Given the description of an element on the screen output the (x, y) to click on. 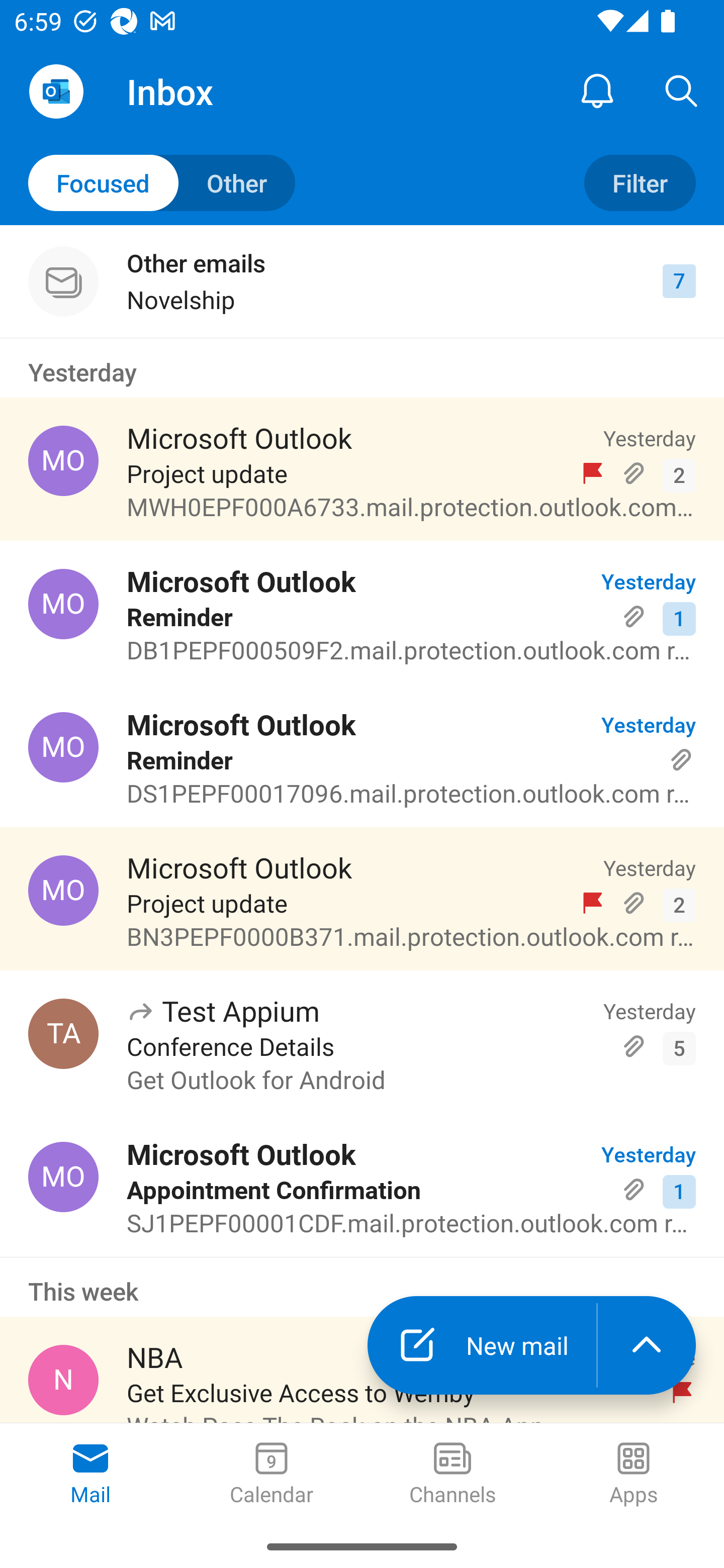
Notification Center (597, 90)
Search, ,  (681, 90)
Open Navigation Drawer (55, 91)
Toggle to other mails (161, 183)
Filter (639, 183)
Other emails Novelship 7 (362, 281)
Test Appium, testappium002@outlook.com (63, 1033)
New mail (481, 1344)
launch the extended action menu (646, 1344)
NBA, NBA@email.nba.com (63, 1380)
Calendar (271, 1474)
Channels (452, 1474)
Apps (633, 1474)
